Given the description of an element on the screen output the (x, y) to click on. 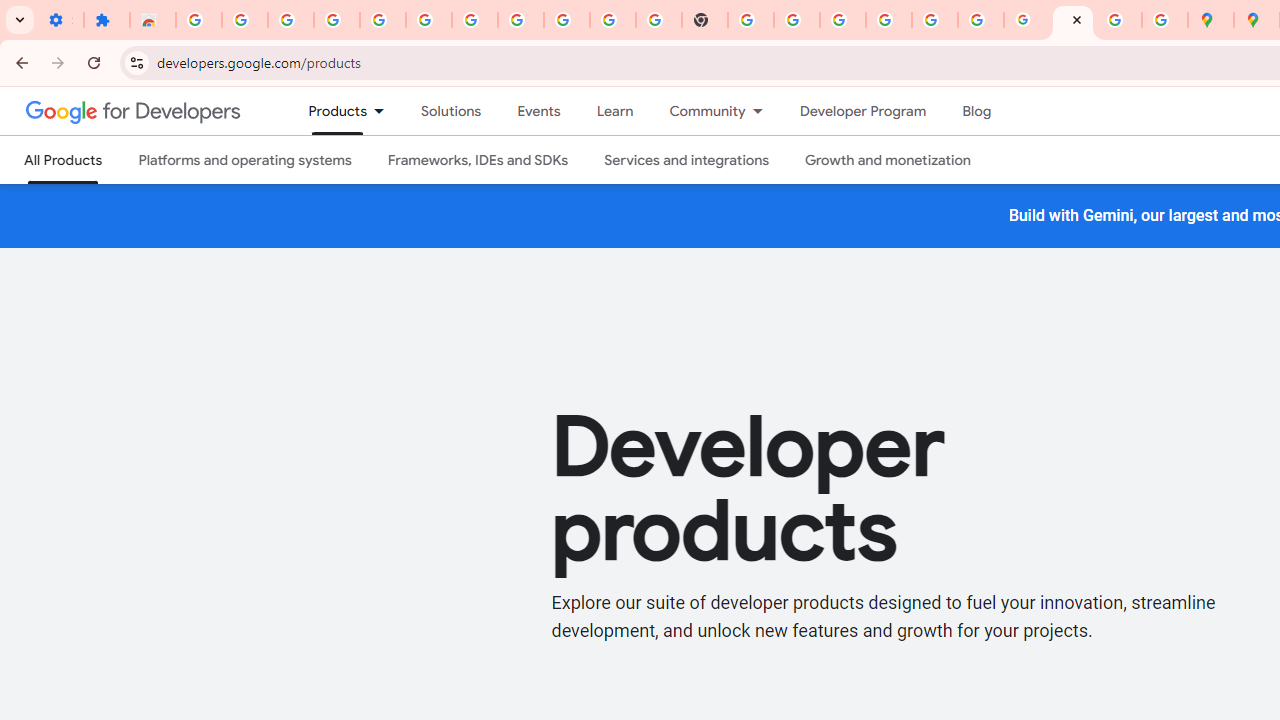
Sign in - Google Accounts (198, 20)
Dropdown menu for Products (385, 111)
Developer Program (862, 111)
Blog (976, 111)
Developer products - Google for Developers (1072, 20)
Learning Catalog (614, 111)
Reviews: Helix Fruit Jump Arcade Game (153, 20)
Solutions (451, 111)
All Products, selected (63, 160)
